Given the description of an element on the screen output the (x, y) to click on. 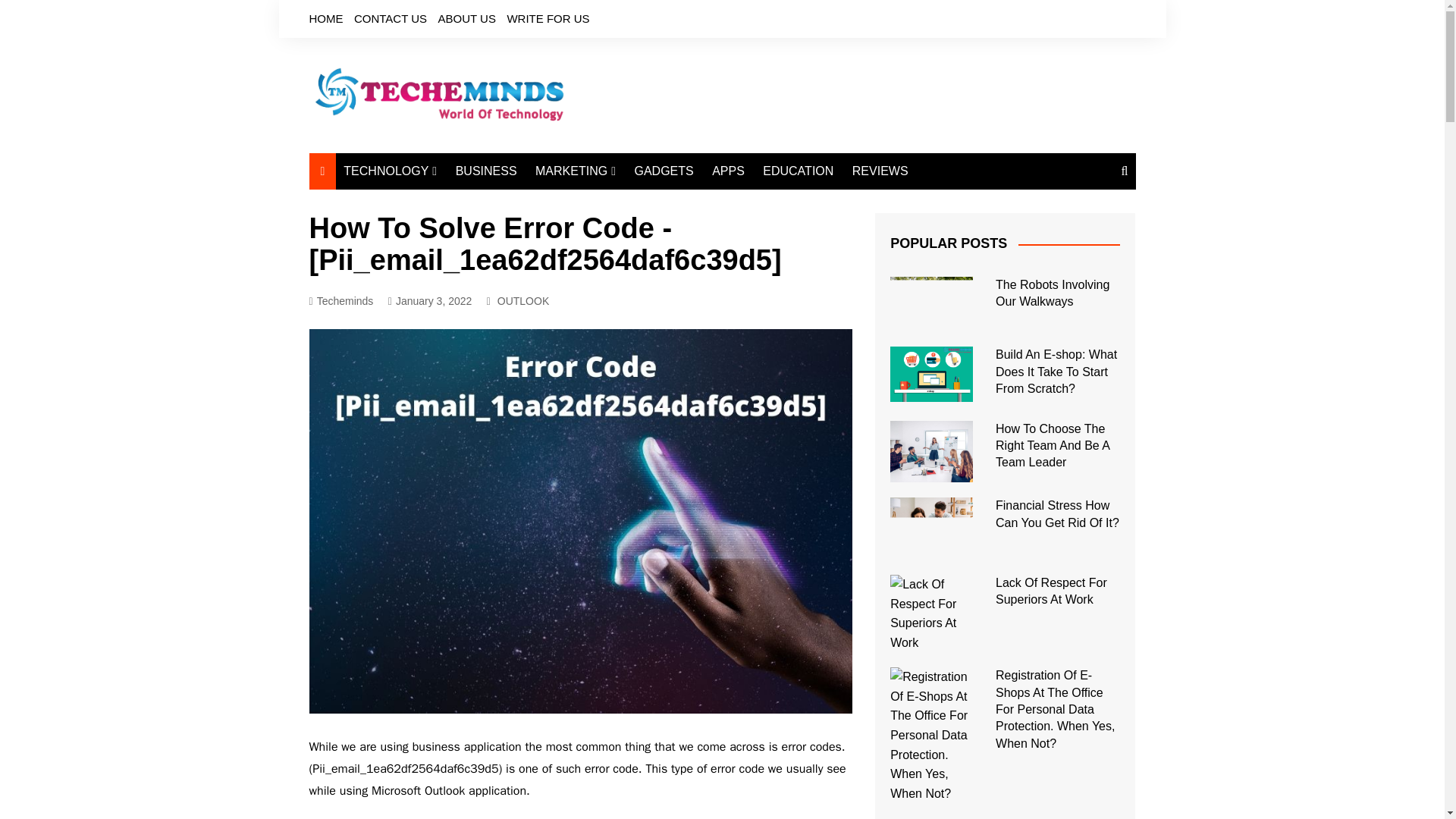
MARKETING (575, 171)
BUSINESS (486, 171)
CONTACT US (389, 18)
GADGETS (663, 171)
January 3, 2022 (429, 301)
HOME (325, 18)
APPS (728, 171)
OUTLOOK (522, 300)
DIGITAL MARKETING (610, 201)
CLOUD COMPUTING (419, 239)
